Given the description of an element on the screen output the (x, y) to click on. 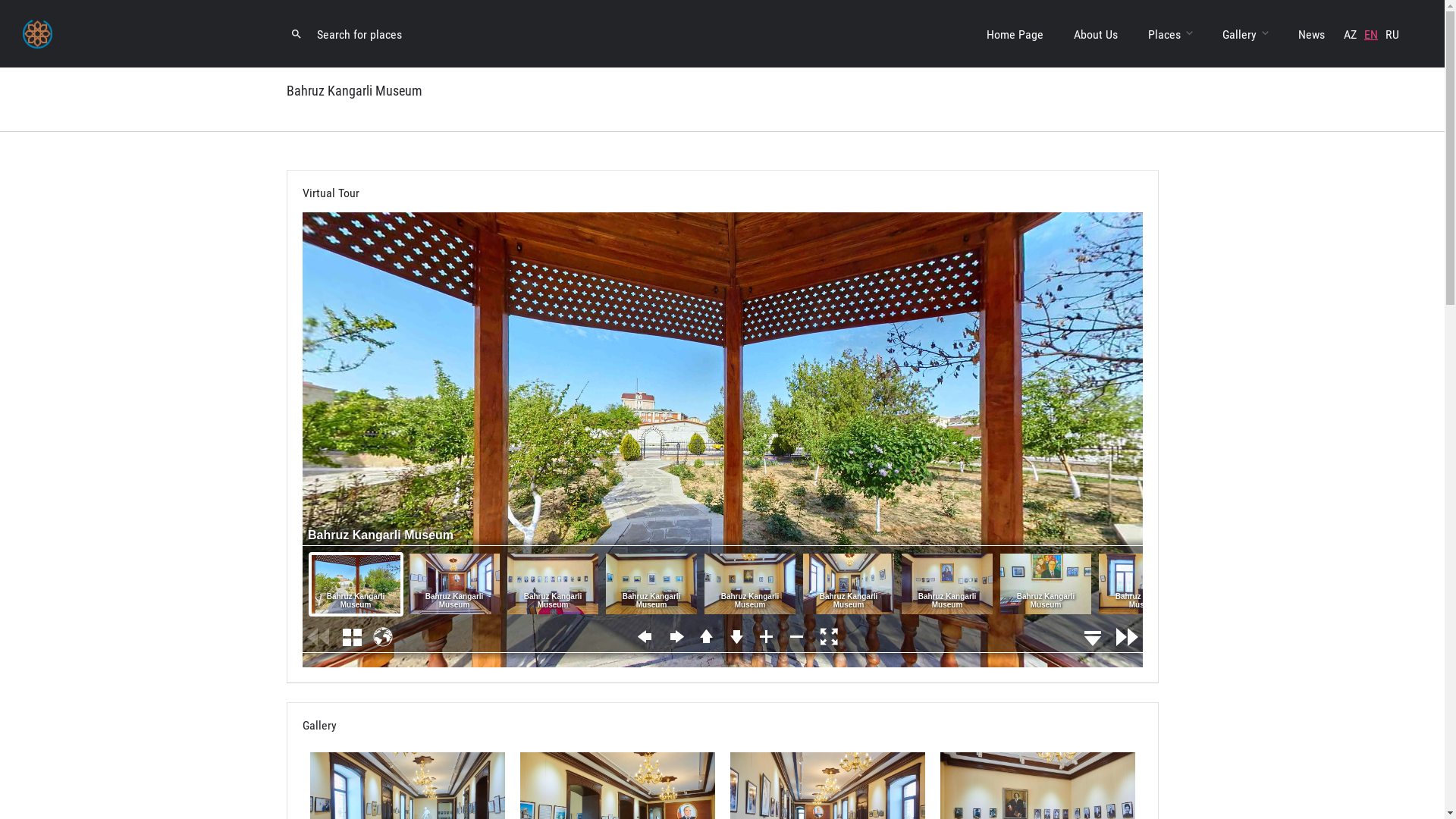
AZ Element type: text (1349, 34)
RU Element type: text (1391, 34)
EN Element type: text (1370, 34)
News Element type: text (1311, 34)
Places Element type: text (1163, 40)
Gallery Element type: text (1239, 40)
Home Page Element type: text (1014, 34)
About Us Element type: text (1095, 34)
